Given the description of an element on the screen output the (x, y) to click on. 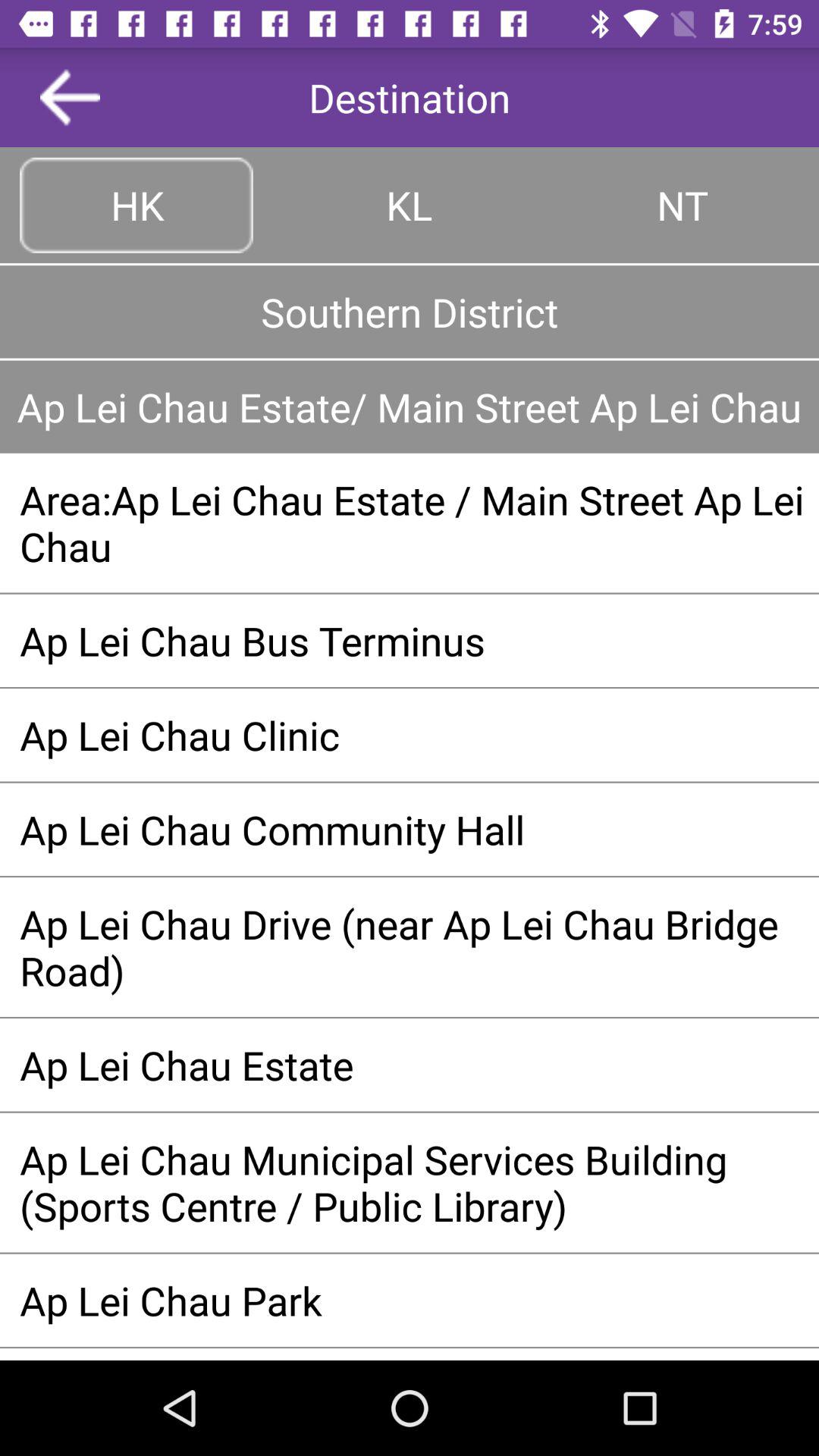
press the button to the right of the hk (409, 205)
